Given the description of an element on the screen output the (x, y) to click on. 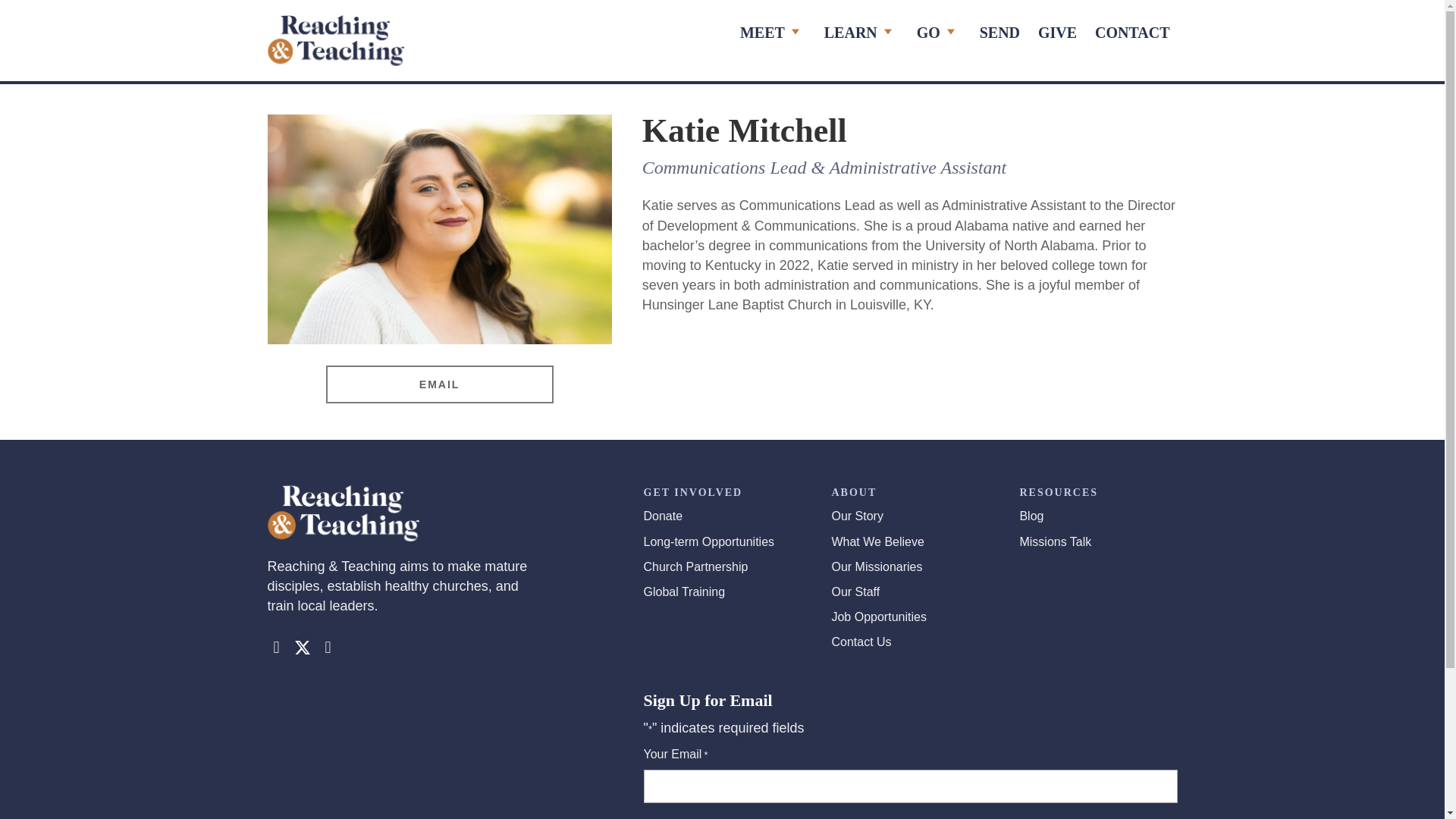
GO (938, 32)
SEND (999, 32)
Facebook (275, 647)
Instagram (327, 647)
GIVE (1057, 32)
logo (334, 40)
LEARN (860, 32)
CONTACT (1132, 32)
footer-logo (342, 513)
MEET (772, 32)
